Given the description of an element on the screen output the (x, y) to click on. 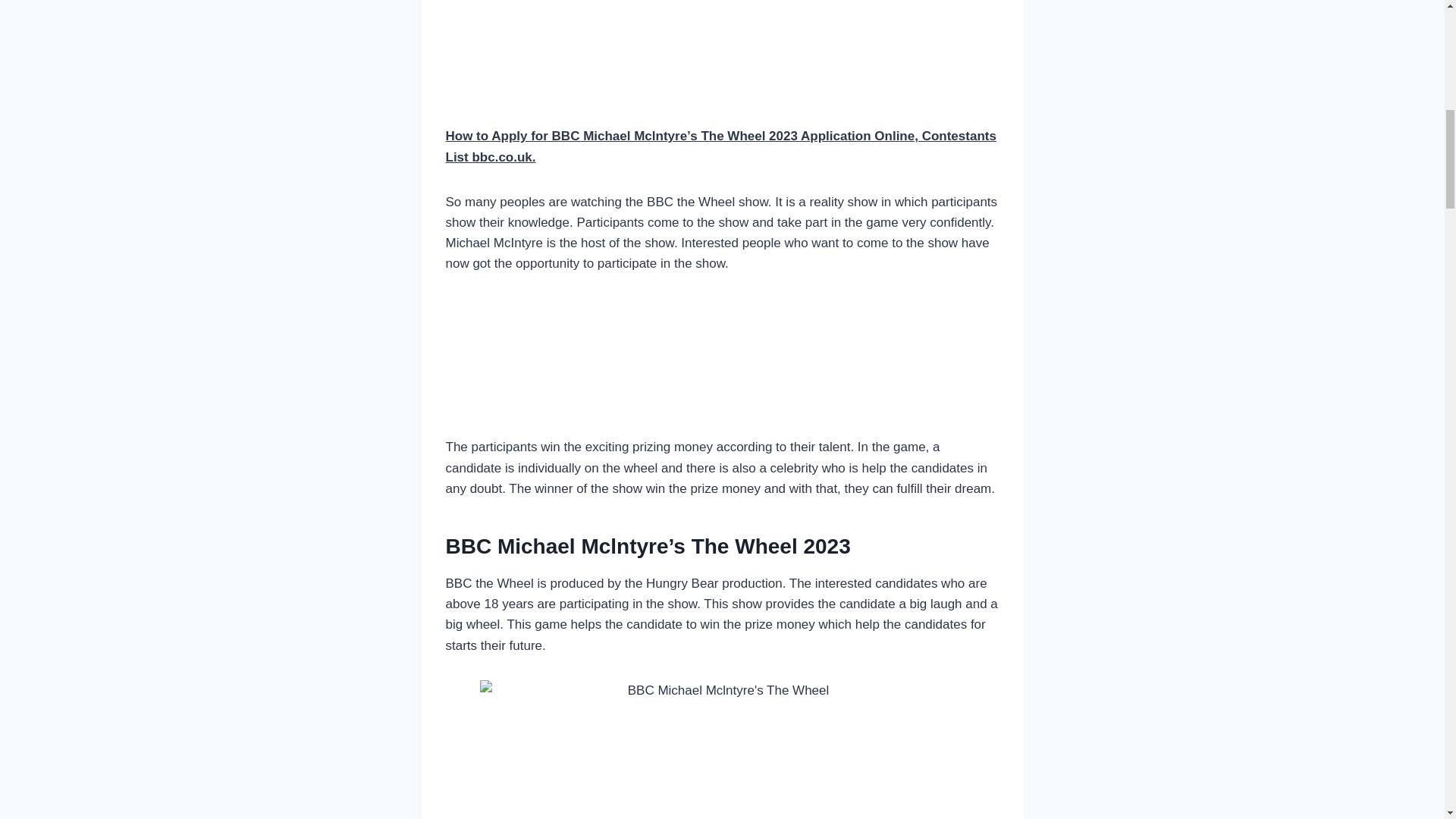
Advertisement (721, 58)
Advertisement (721, 363)
